Given the description of an element on the screen output the (x, y) to click on. 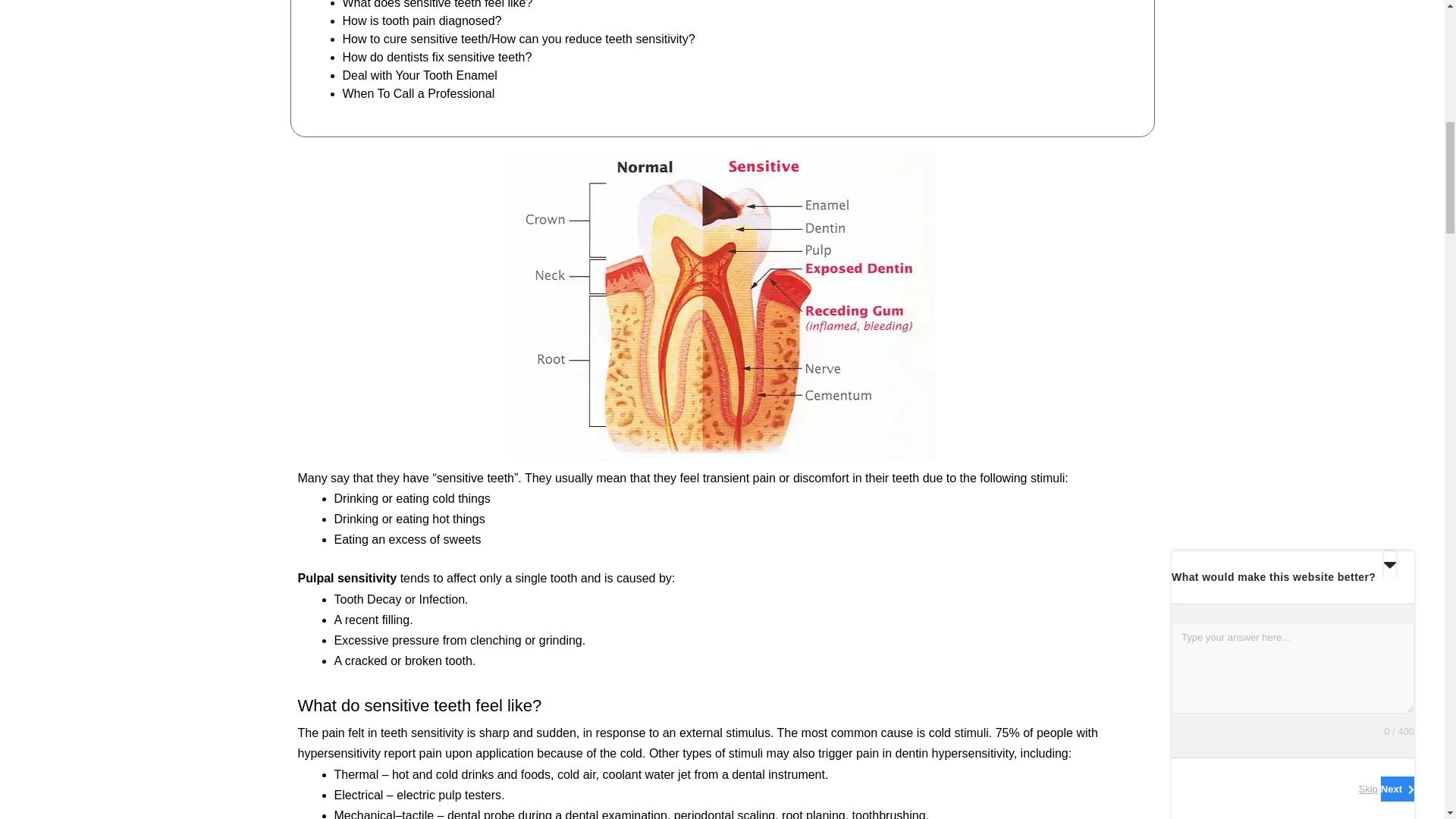
When To Call a Professional (418, 92)
How is tooth pain diagnosed? (422, 20)
How do dentists fix sensitive teeth? (437, 56)
Deal with Your Tooth Enamel (419, 74)
What does sensitive teeth feel like? (437, 4)
